Given the description of an element on the screen output the (x, y) to click on. 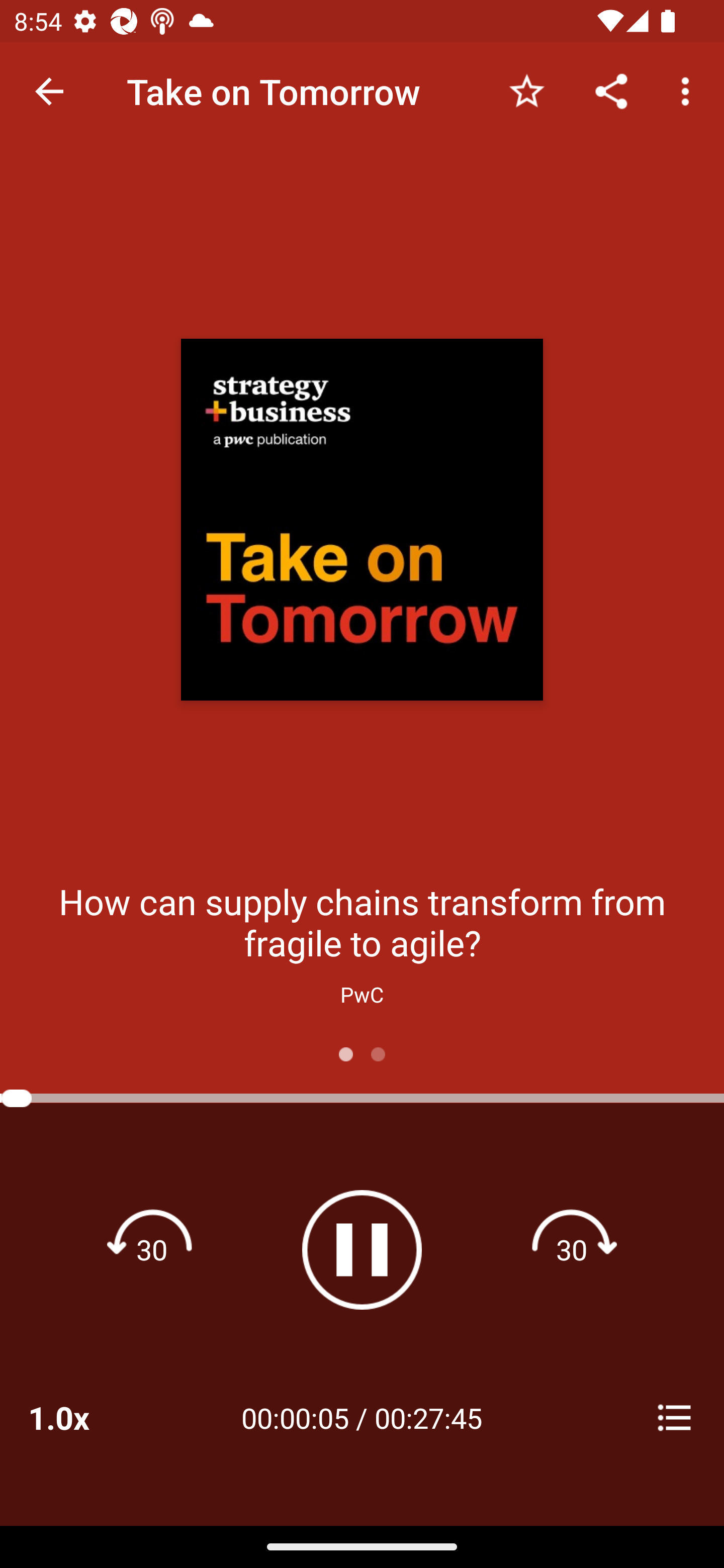
Navigate up (49, 91)
Add to Favorites (526, 90)
Share... (611, 90)
More options (688, 90)
PwC (361, 994)
Pause (361, 1249)
Rewind (151, 1249)
Fast forward (571, 1249)
1.0x Playback Speeds (84, 1417)
00:27:45 (428, 1417)
